Given the description of an element on the screen output the (x, y) to click on. 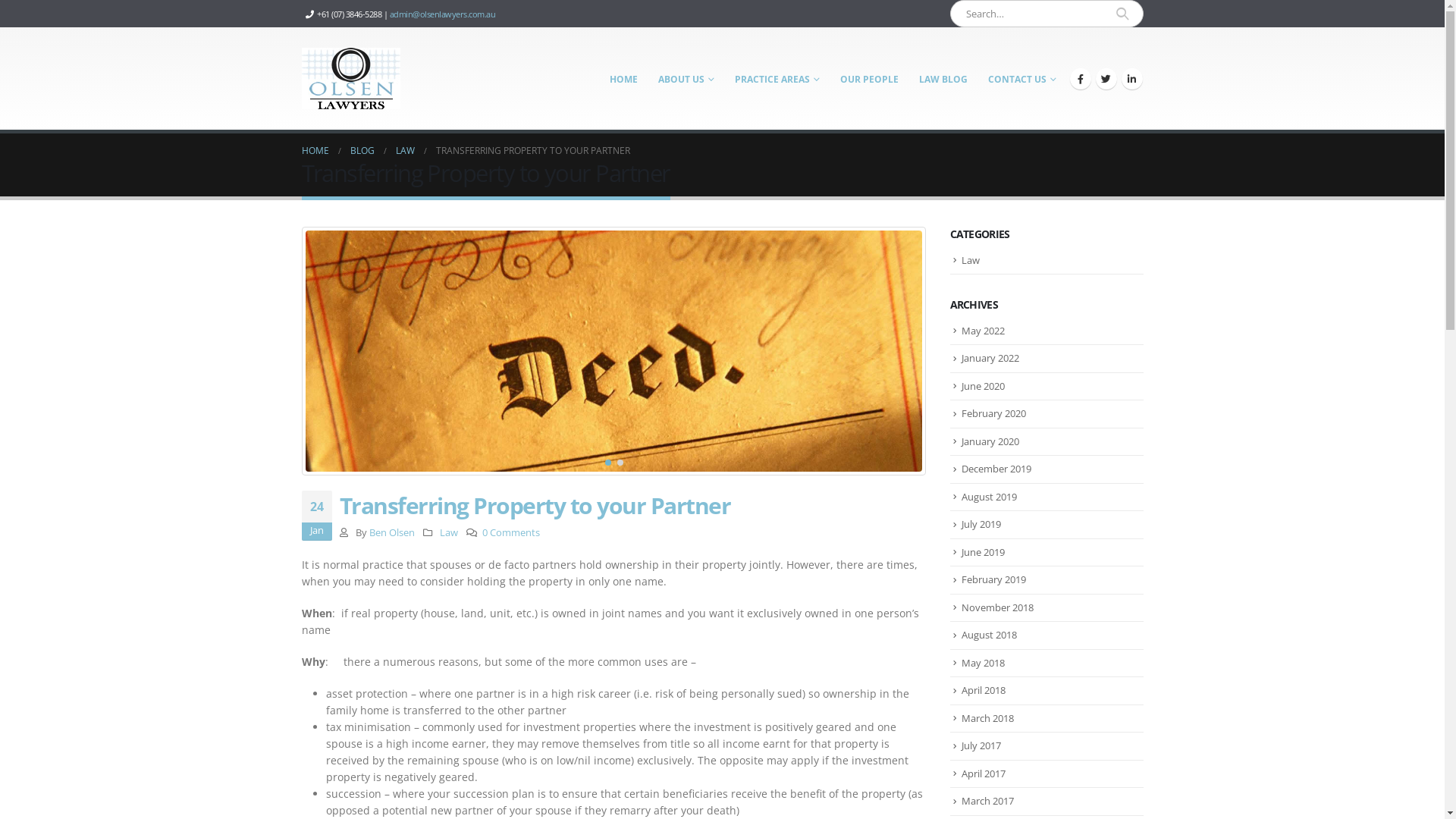
May 2022 Element type: text (982, 330)
November 2018 Element type: text (997, 607)
OUR PEOPLE Element type: text (868, 78)
August 2018 Element type: text (988, 634)
LAW Element type: text (404, 150)
Facebook Element type: hover (1079, 78)
December 2019 Element type: text (996, 468)
Law Element type: text (970, 259)
Ben Olsen Element type: text (391, 532)
Law Element type: text (448, 532)
April 2017 Element type: text (983, 773)
March 2017 Element type: text (987, 800)
HOME Element type: text (622, 78)
January 2020 Element type: text (990, 441)
August 2019 Element type: text (988, 496)
LinkedIn Element type: hover (1131, 78)
HOME Element type: text (315, 150)
Search Element type: hover (1122, 13)
Twitter Element type: hover (1105, 78)
June 2020 Element type: text (982, 385)
admin@olsenlawyers.com.au Element type: text (442, 13)
0 Comments Element type: text (510, 532)
July 2019 Element type: text (981, 523)
BLOG Element type: text (362, 150)
LAW BLOG Element type: text (942, 78)
February 2020 Element type: text (993, 413)
February 2019 Element type: text (993, 579)
ABOUT US Element type: text (685, 78)
June 2019 Element type: text (982, 551)
March 2018 Element type: text (987, 717)
April 2018 Element type: text (983, 689)
July 2017 Element type: text (981, 745)
CONTACT US Element type: text (1022, 78)
May 2018 Element type: text (982, 662)
January 2022 Element type: text (990, 357)
PRACTICE AREAS Element type: text (776, 78)
